Given the description of an element on the screen output the (x, y) to click on. 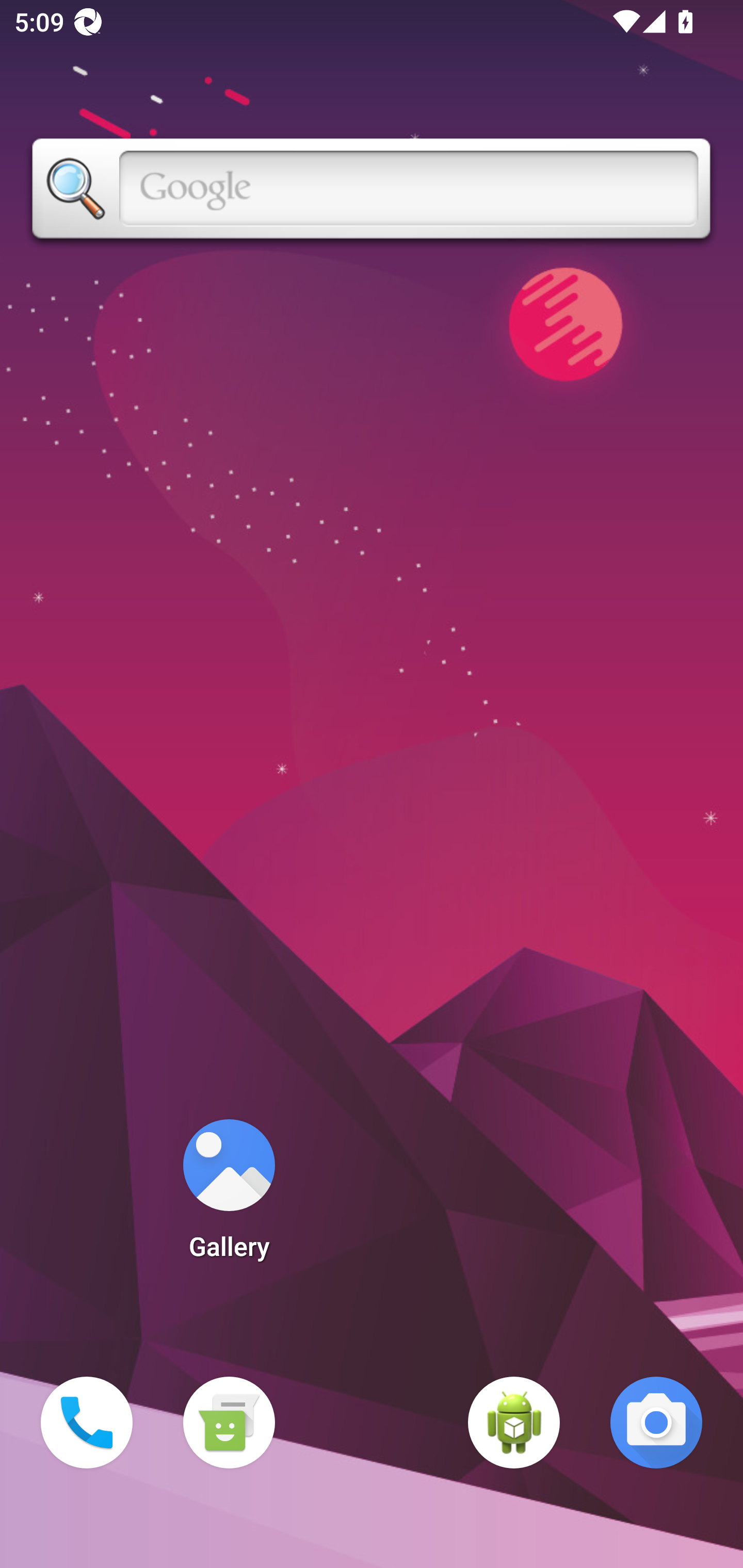
Gallery (228, 1195)
Phone (86, 1422)
Messaging (228, 1422)
WebView Browser Tester (513, 1422)
Camera (656, 1422)
